Given the description of an element on the screen output the (x, y) to click on. 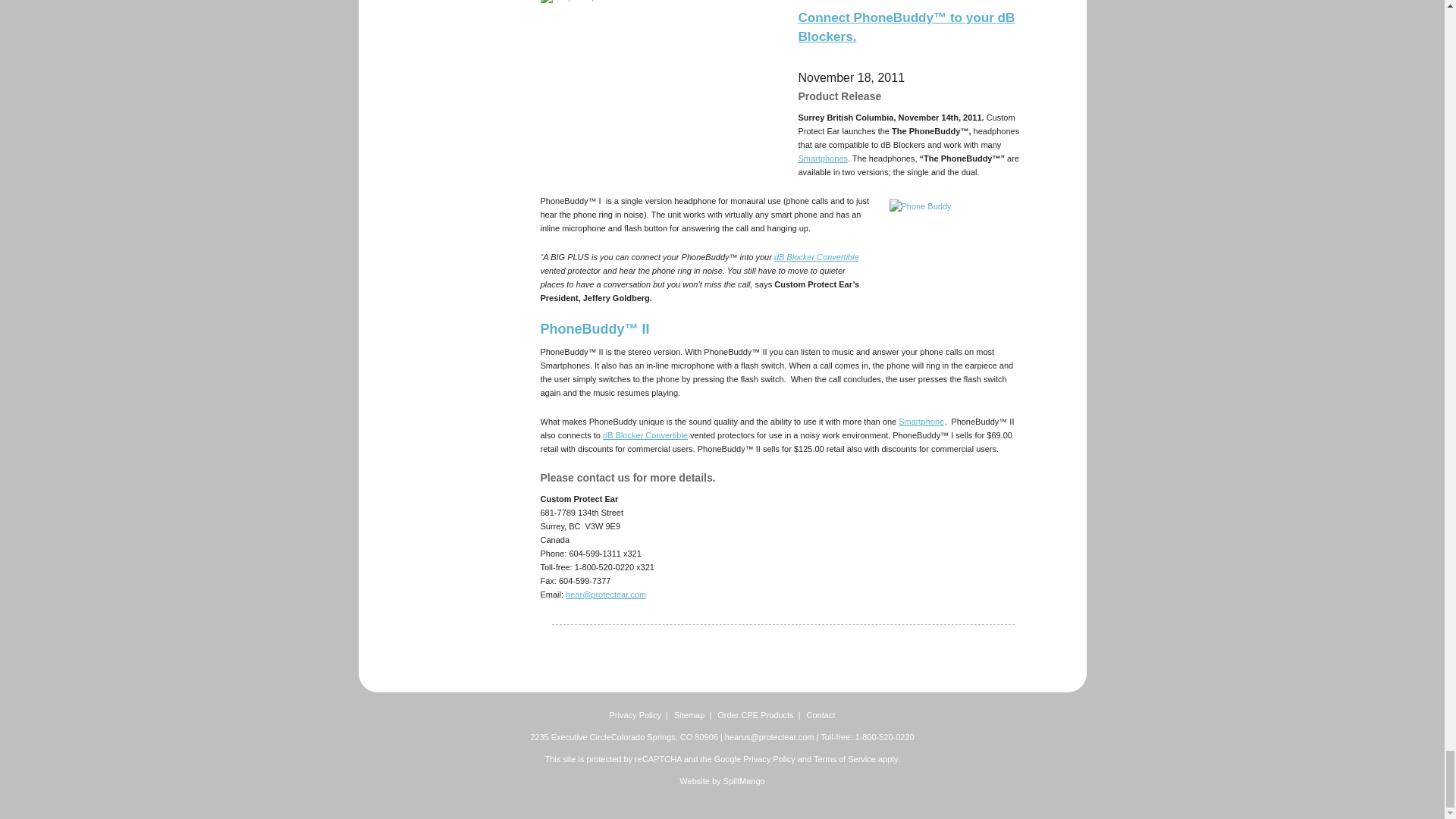
Noisy workplace (659, 87)
Phone Buddy  (956, 244)
